Given the description of an element on the screen output the (x, y) to click on. 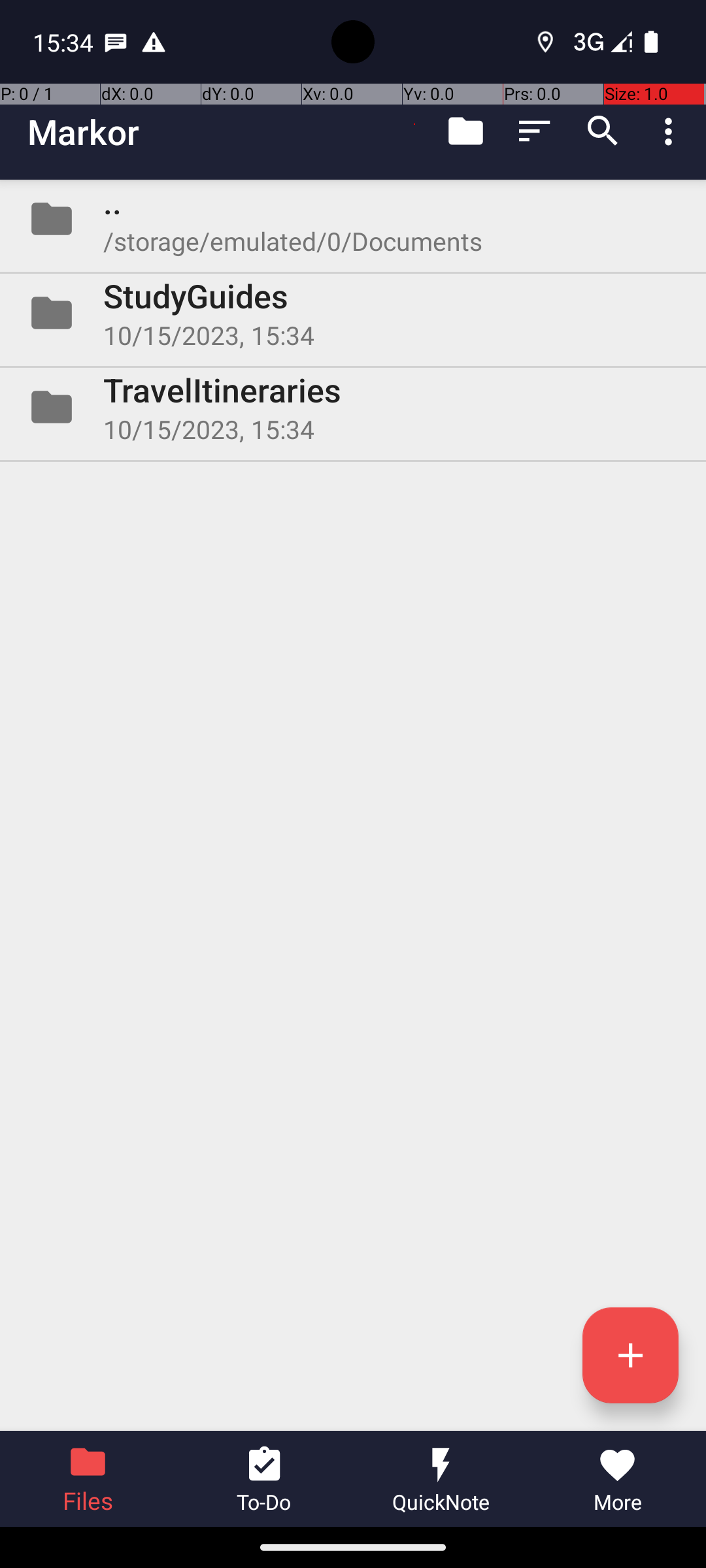
Folder StudyGuides  Element type: android.widget.LinearLayout (353, 312)
Folder TravelItineraries  Element type: android.widget.LinearLayout (353, 406)
